Given the description of an element on the screen output the (x, y) to click on. 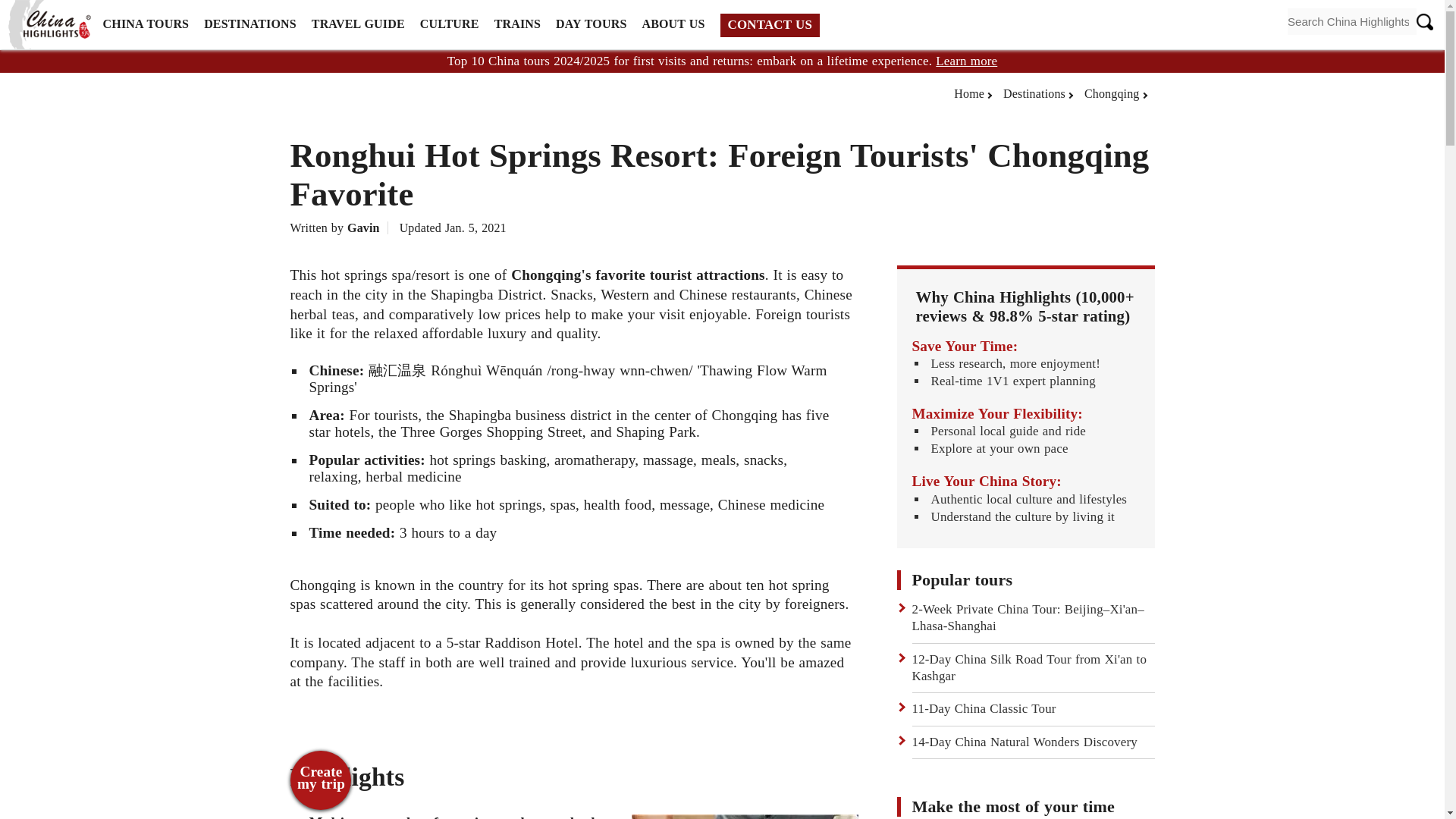
TRAVEL GUIDE (357, 24)
CHINA TOURS (146, 24)
DESTINATIONS (250, 24)
